Given the description of an element on the screen output the (x, y) to click on. 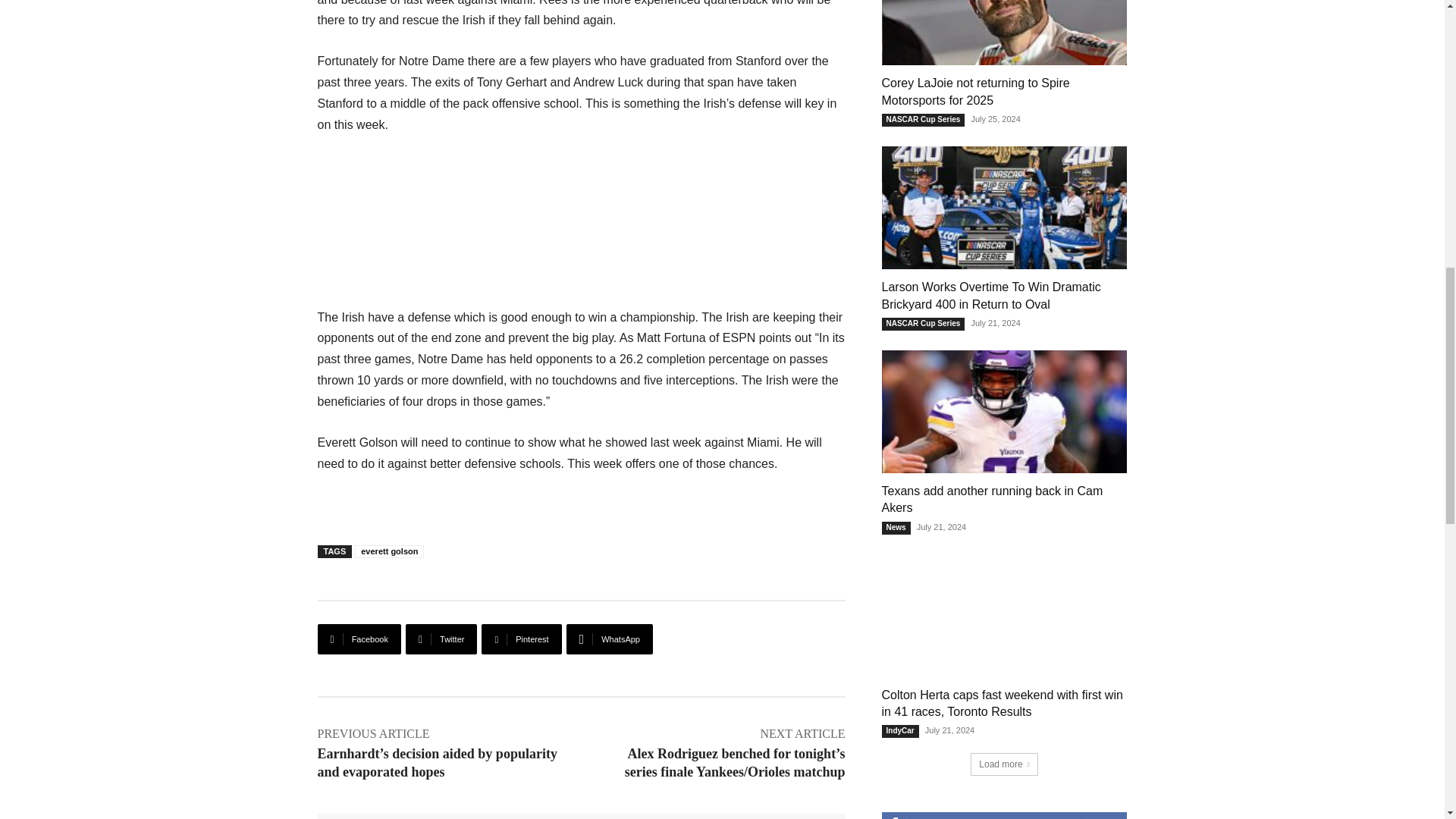
Twitter (441, 639)
Pinterest (520, 639)
Advertisement (580, 231)
Facebook (358, 639)
